Given the description of an element on the screen output the (x, y) to click on. 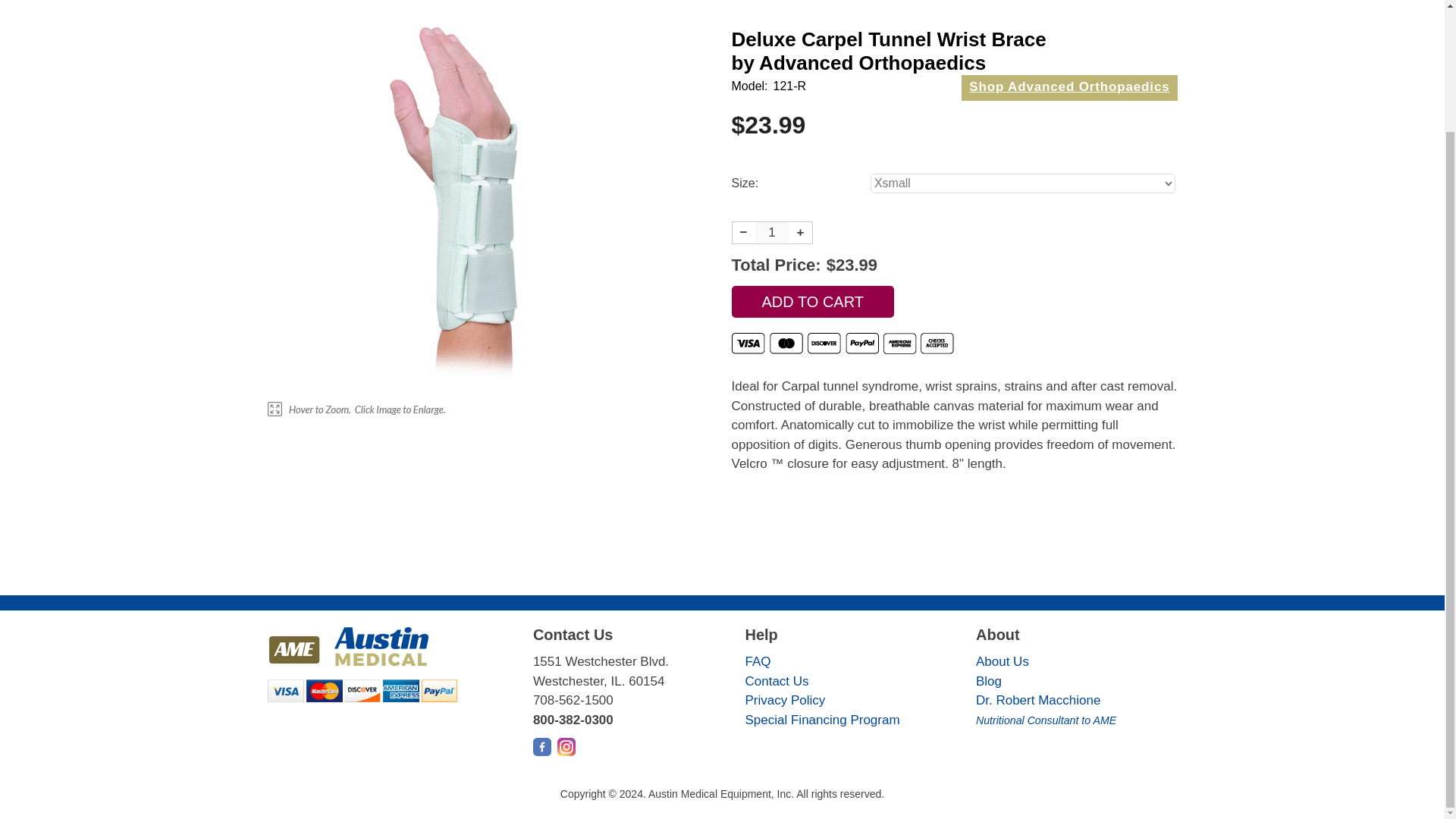
Add to Cart (811, 301)
Add to Cart (811, 301)
1 (772, 232)
